Given the description of an element on the screen output the (x, y) to click on. 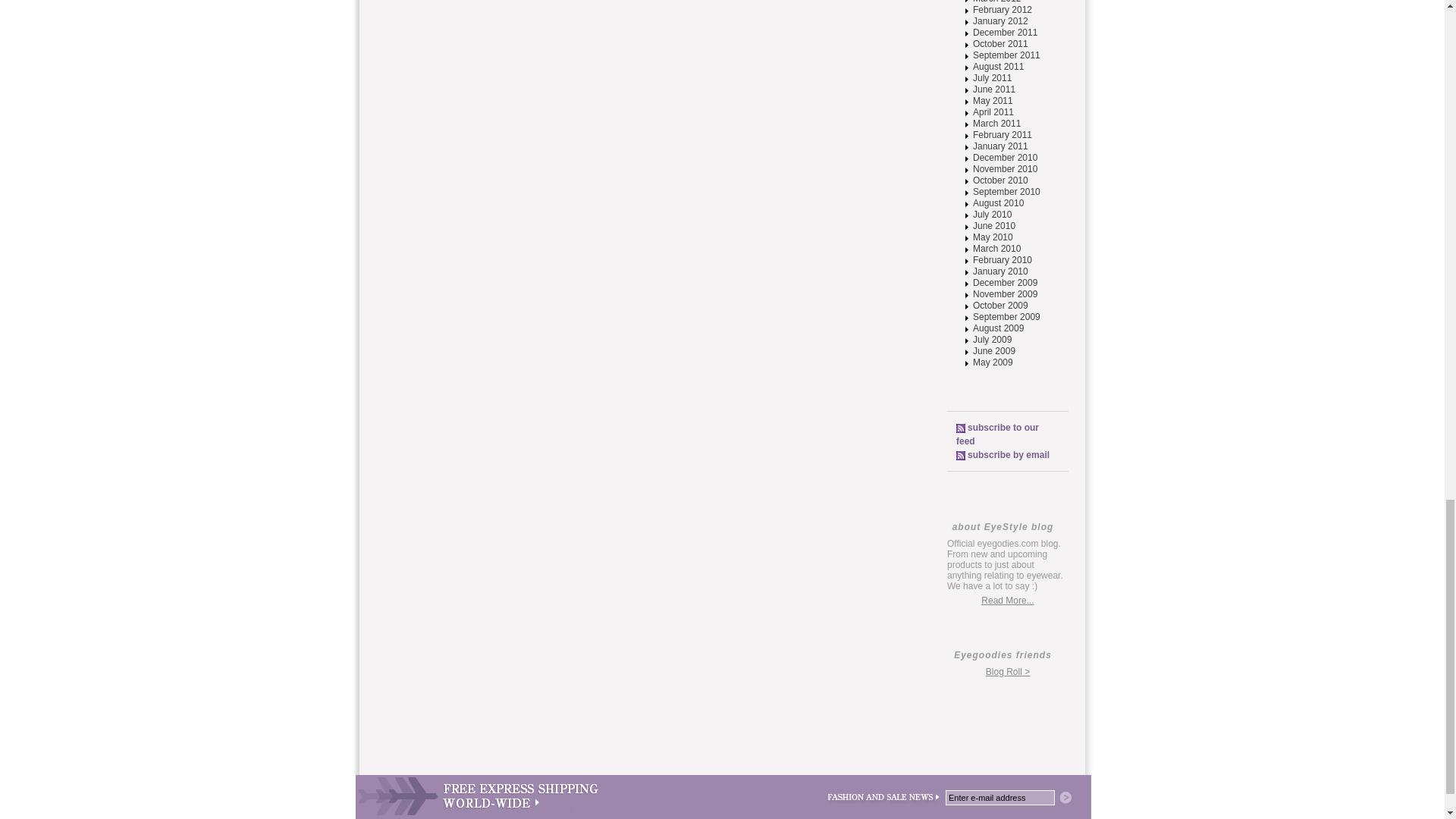
Enter e-mail address (999, 797)
